Given the description of an element on the screen output the (x, y) to click on. 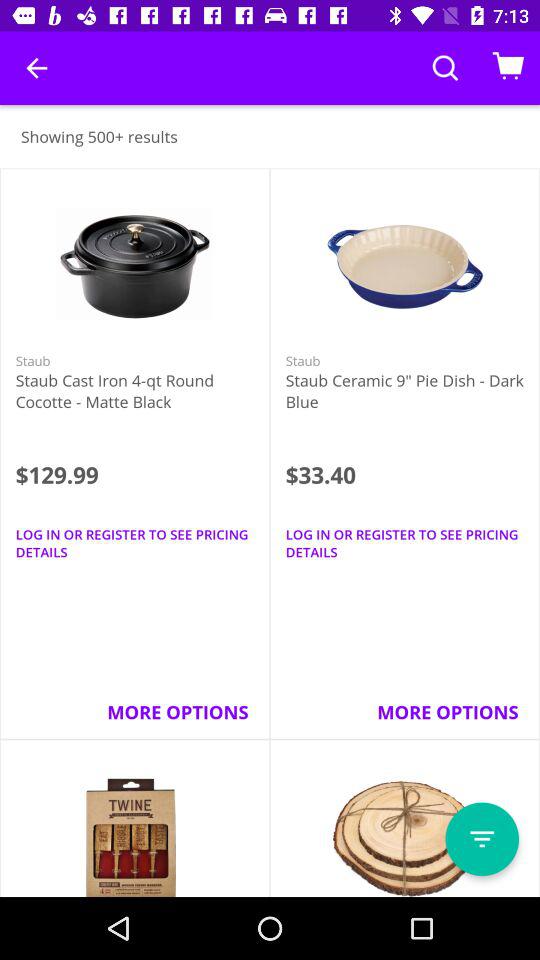
open icon above the showing 500+ results (36, 68)
